Given the description of an element on the screen output the (x, y) to click on. 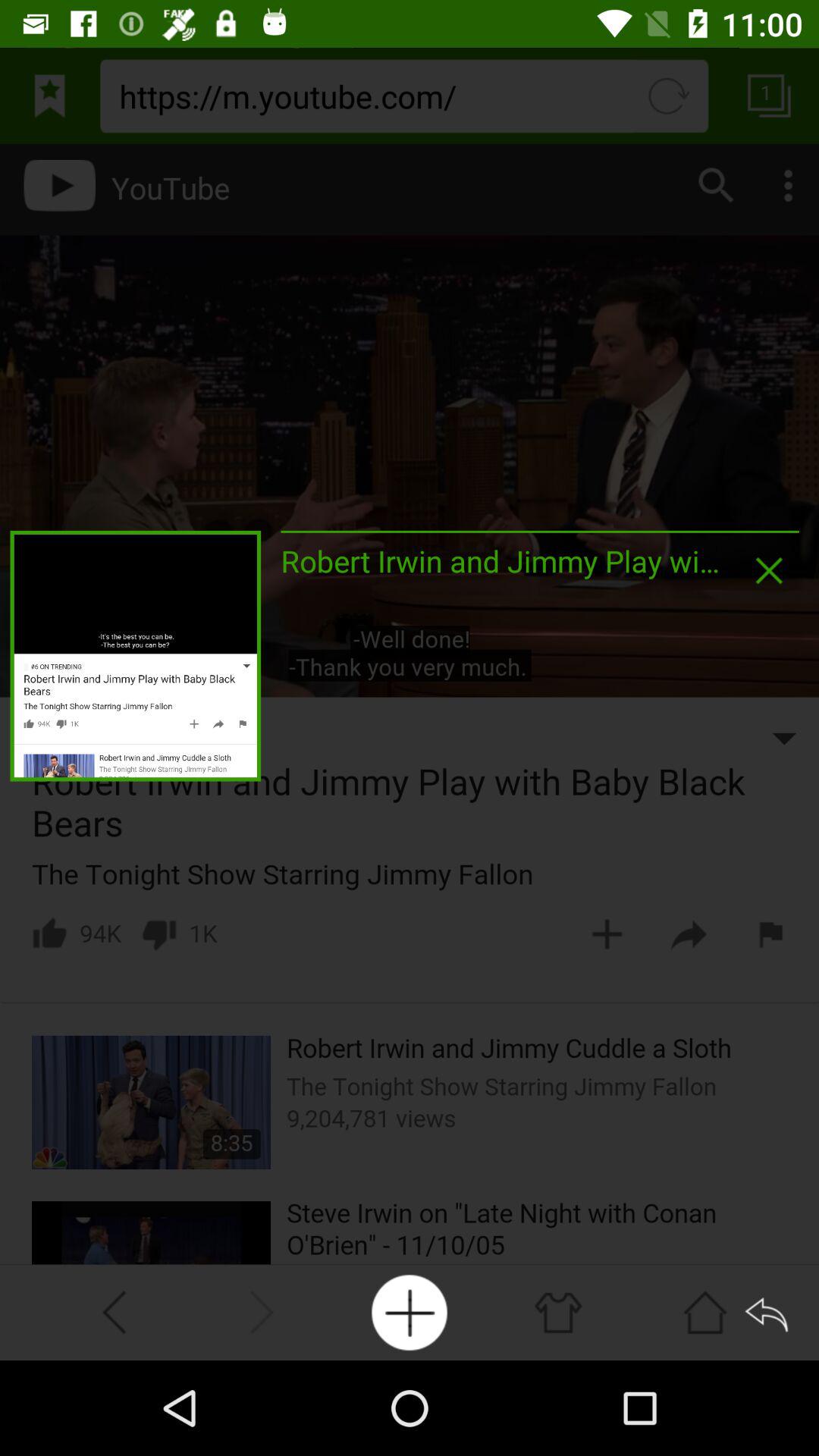
select icon above robert irwin and item (539, 531)
